Given the description of an element on the screen output the (x, y) to click on. 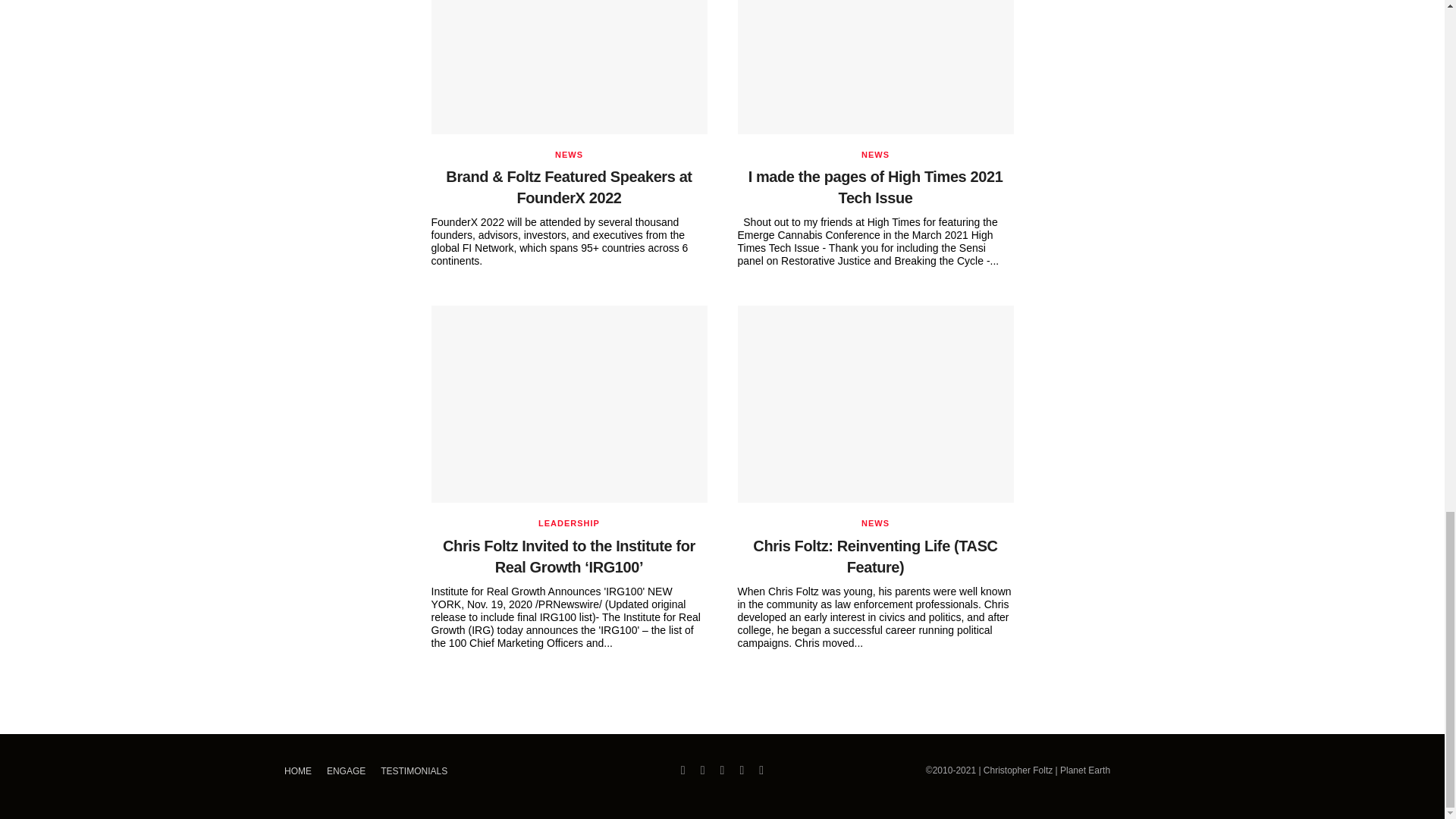
NEWS (568, 154)
NEWS (875, 154)
LEADERSHIP (568, 523)
I made the pages of High Times 2021 Tech Issue (875, 187)
